Given the description of an element on the screen output the (x, y) to click on. 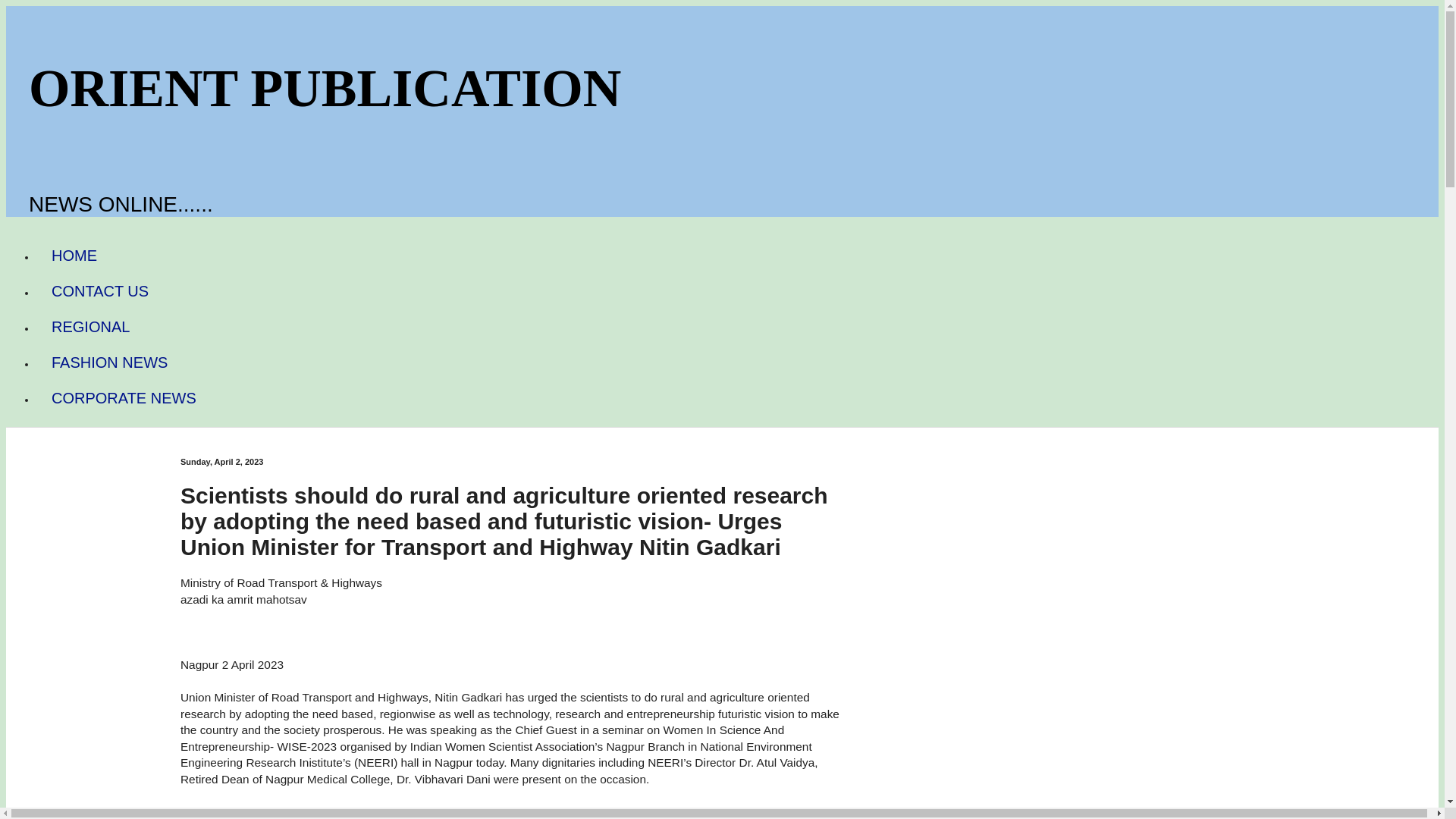
REGIONAL (90, 326)
CONTACT US (99, 291)
ORIENT PUBLICATION (325, 87)
HOME (74, 255)
FASHION NEWS (109, 362)
CORPORATE NEWS (123, 398)
